Given the description of an element on the screen output the (x, y) to click on. 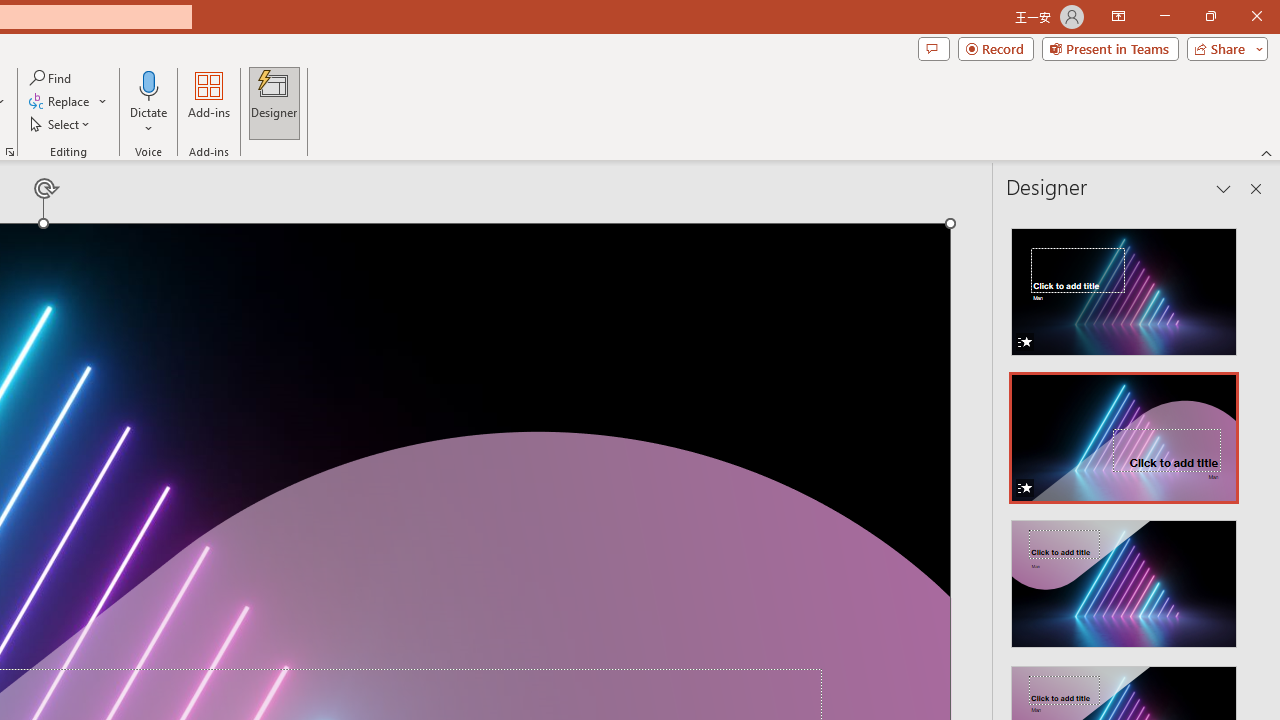
Find... (51, 78)
Present in Teams (1109, 48)
Designer (274, 102)
Close pane (1256, 188)
Minimize (1164, 16)
Design Idea with Animation (1124, 431)
Replace... (60, 101)
Comments (933, 48)
Recommended Design: Animation (1124, 286)
Collapse the Ribbon (1267, 152)
Class: NetUIImage (1124, 584)
